Given the description of an element on the screen output the (x, y) to click on. 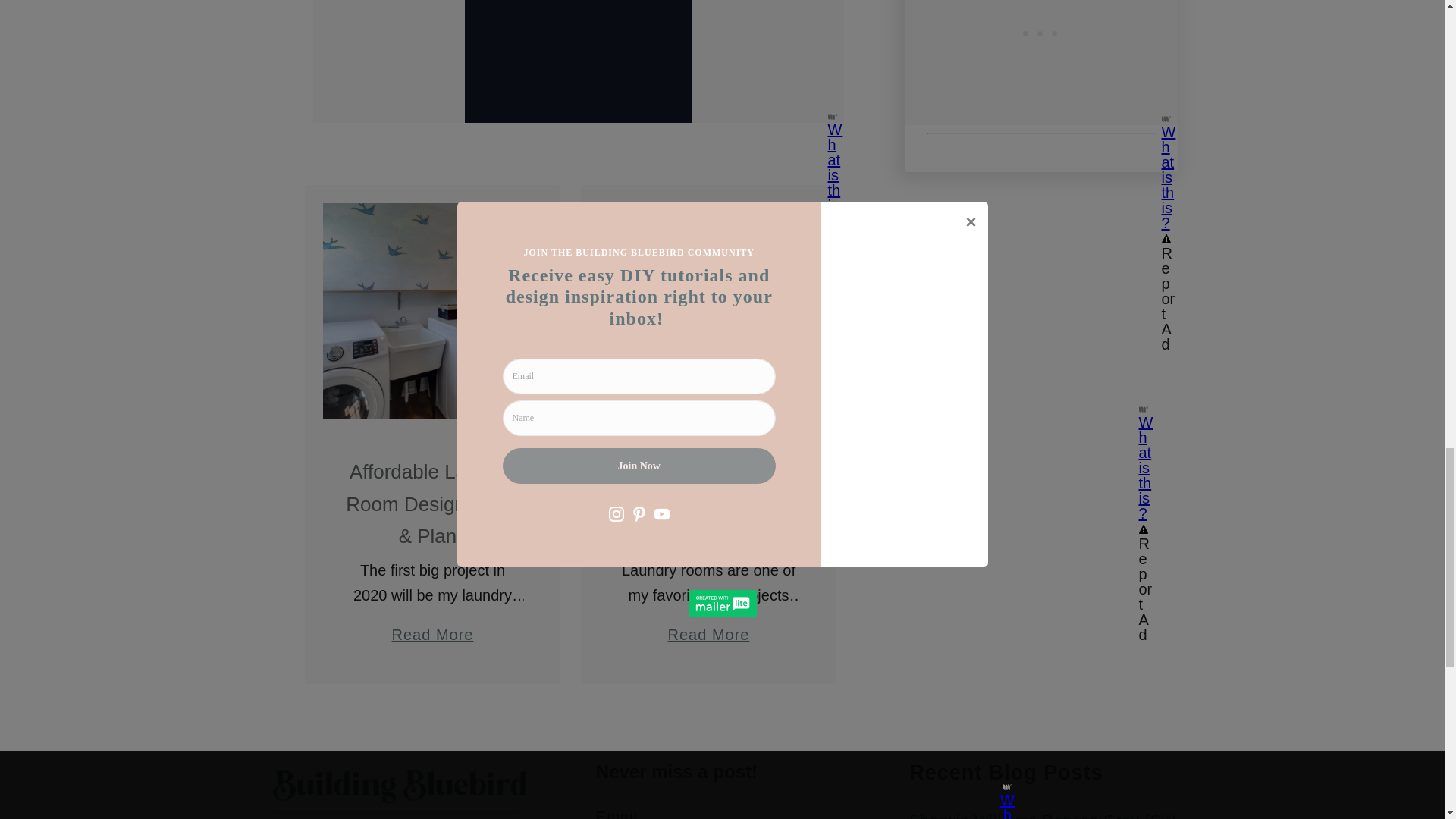
Laundry Room Design Ideas and Inspiration (708, 311)
3rd party ad content (1040, 304)
Laundry Room Design Ideas and Inspiration (708, 627)
